Given the description of an element on the screen output the (x, y) to click on. 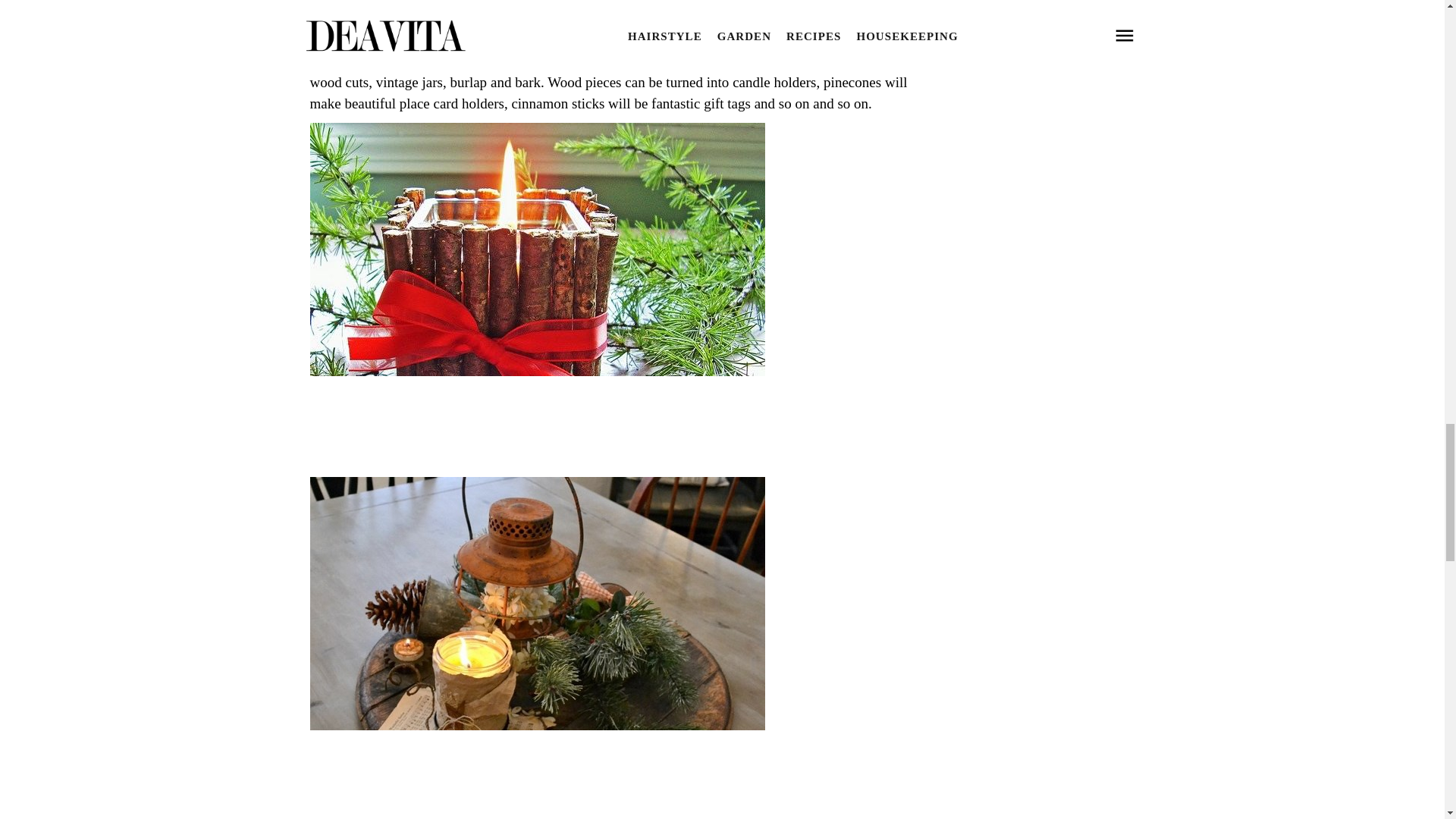
Rustic natural materials pinecones candles (608, 9)
Ideas DIY candleholder twigs (536, 458)
